Given the description of an element on the screen output the (x, y) to click on. 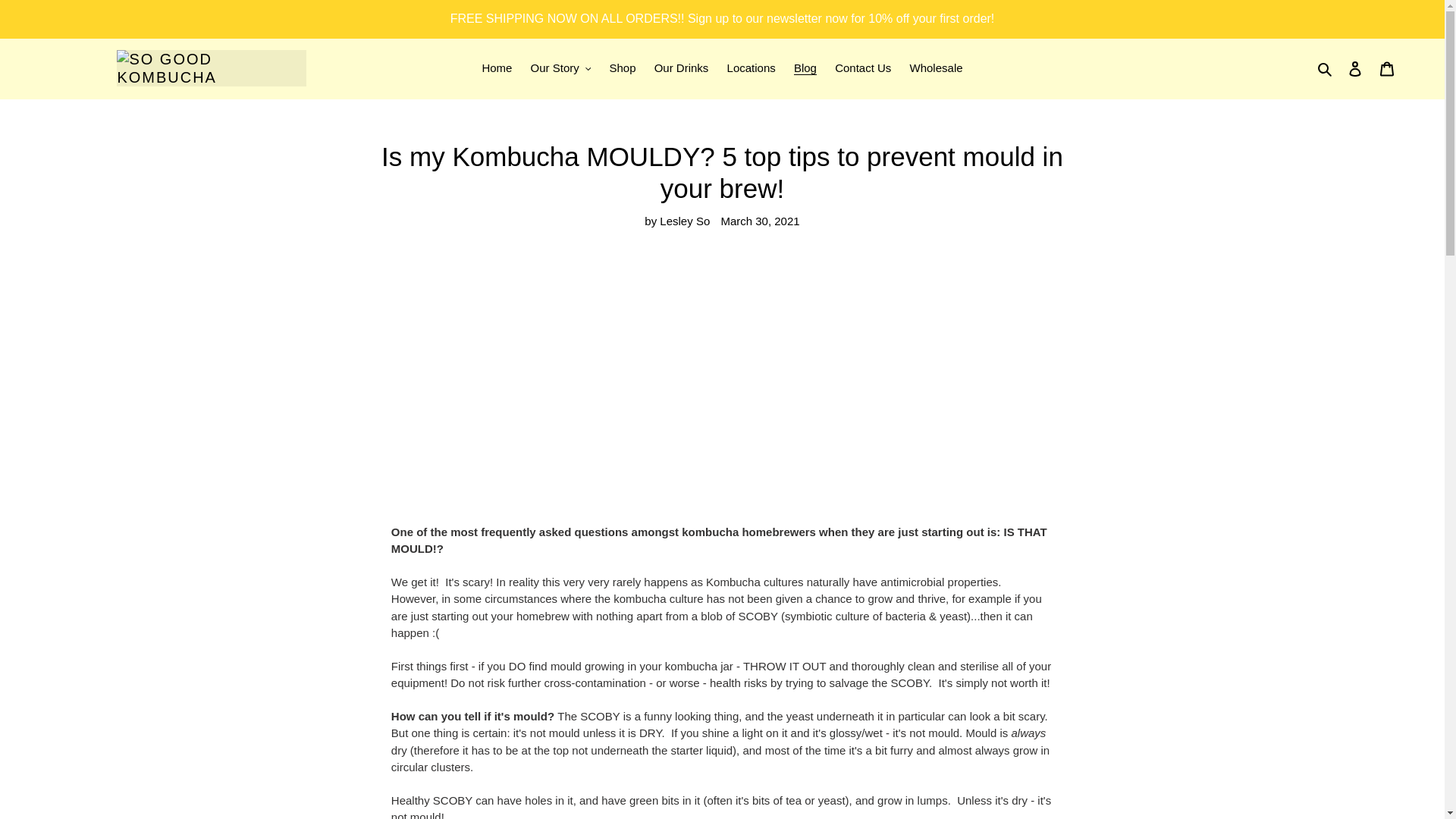
Locations (751, 68)
YouTube video player (721, 390)
Search (1326, 67)
Shop (622, 68)
Contact Us (862, 68)
Log in (1355, 68)
Our Story (560, 68)
Our Drinks (681, 68)
Wholesale (936, 68)
Home (496, 68)
Cart (1387, 68)
Blog (805, 68)
